Given the description of an element on the screen output the (x, y) to click on. 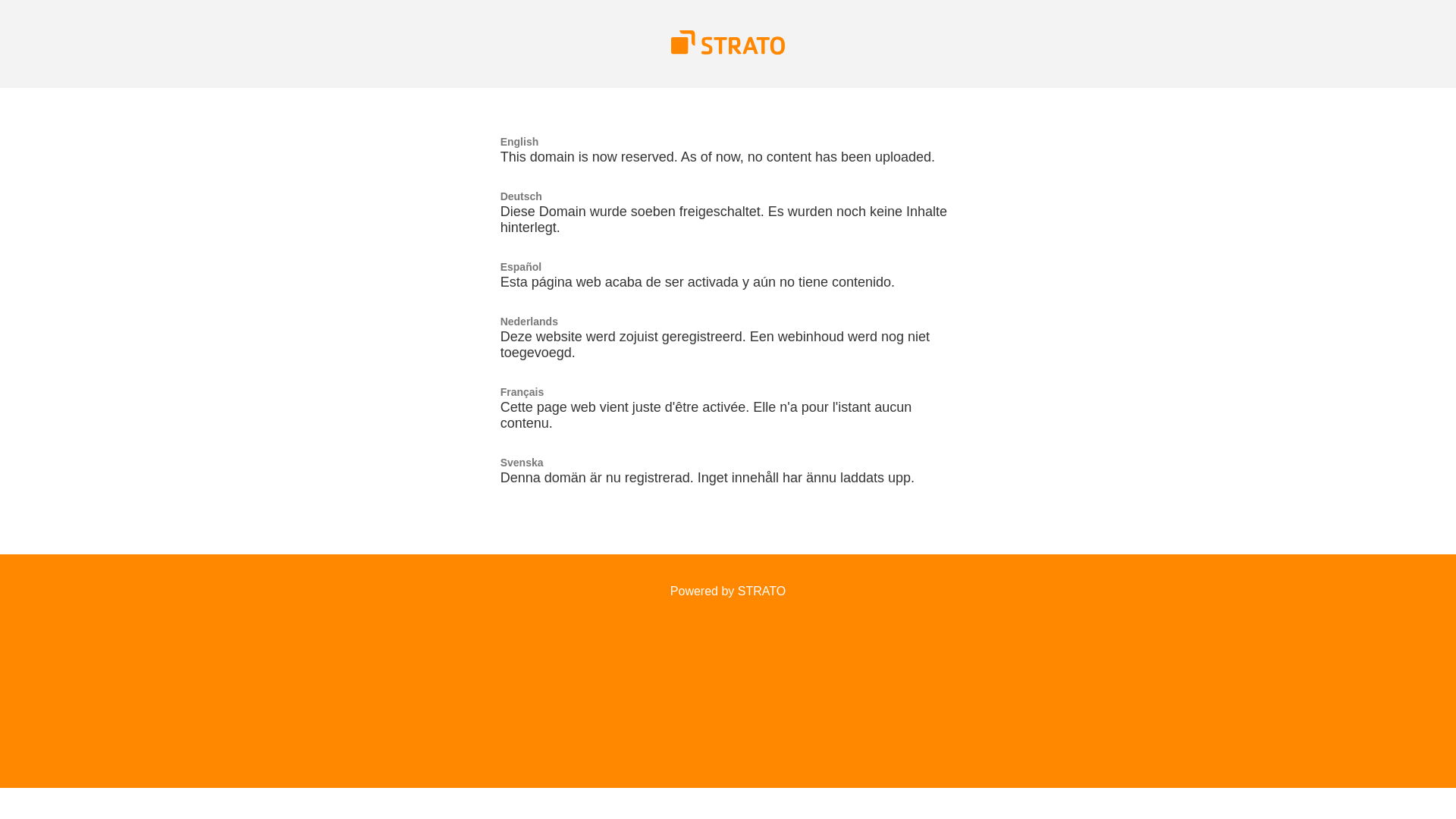
Powered by STRATO Element type: text (727, 590)
